Given the description of an element on the screen output the (x, y) to click on. 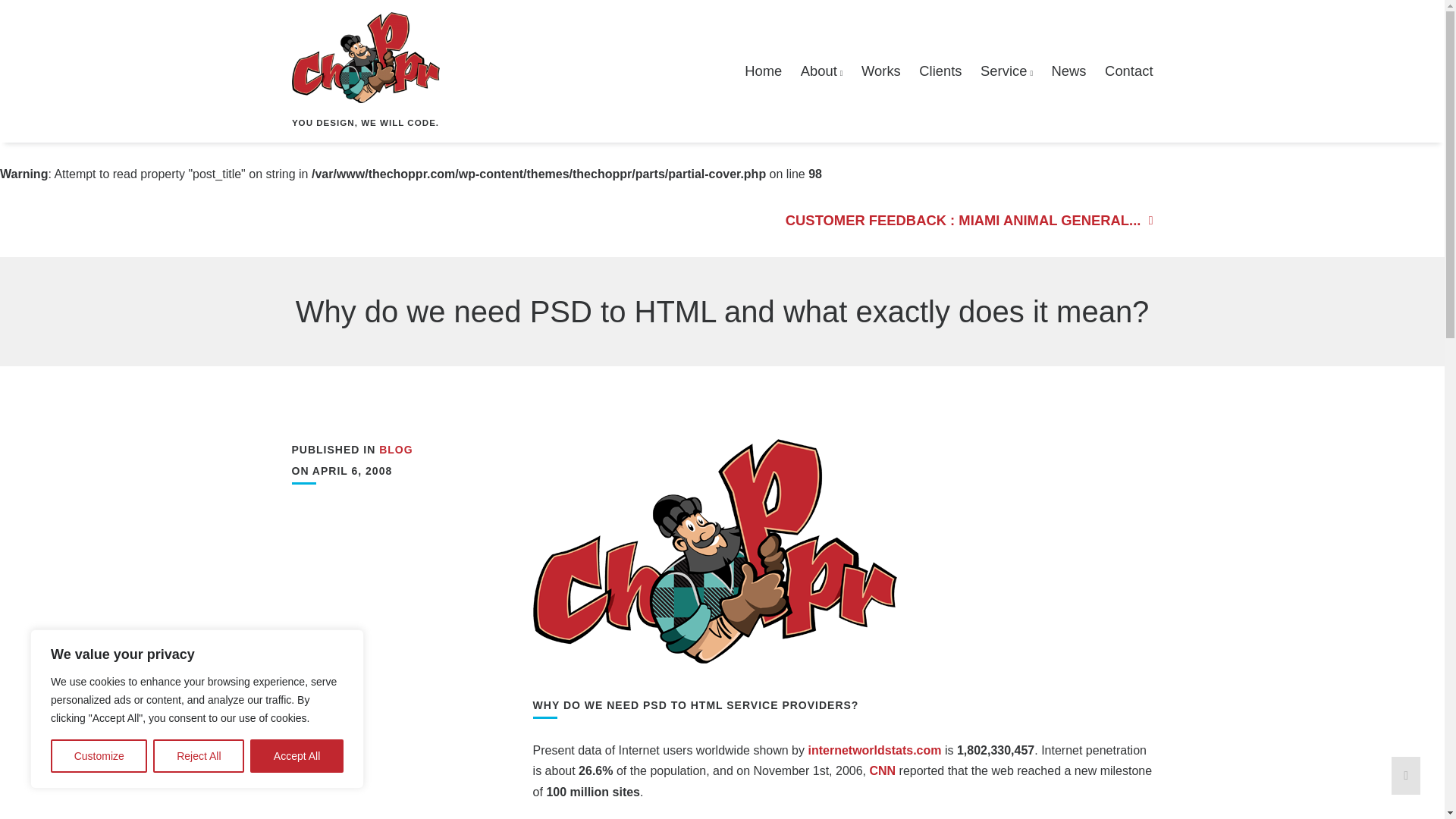
Service (1005, 70)
Customer Feedback : Miami Animal General... (950, 220)
Clients (939, 70)
YOU DESIGN, WE WILL CODE. (365, 71)
Customize (98, 756)
CUSTOMER FEEDBACK : MIAMI ANIMAL GENERAL...   (950, 220)
Contact (1129, 70)
Accept All (296, 756)
Reject All (198, 756)
BLOG (395, 449)
